Given the description of an element on the screen output the (x, y) to click on. 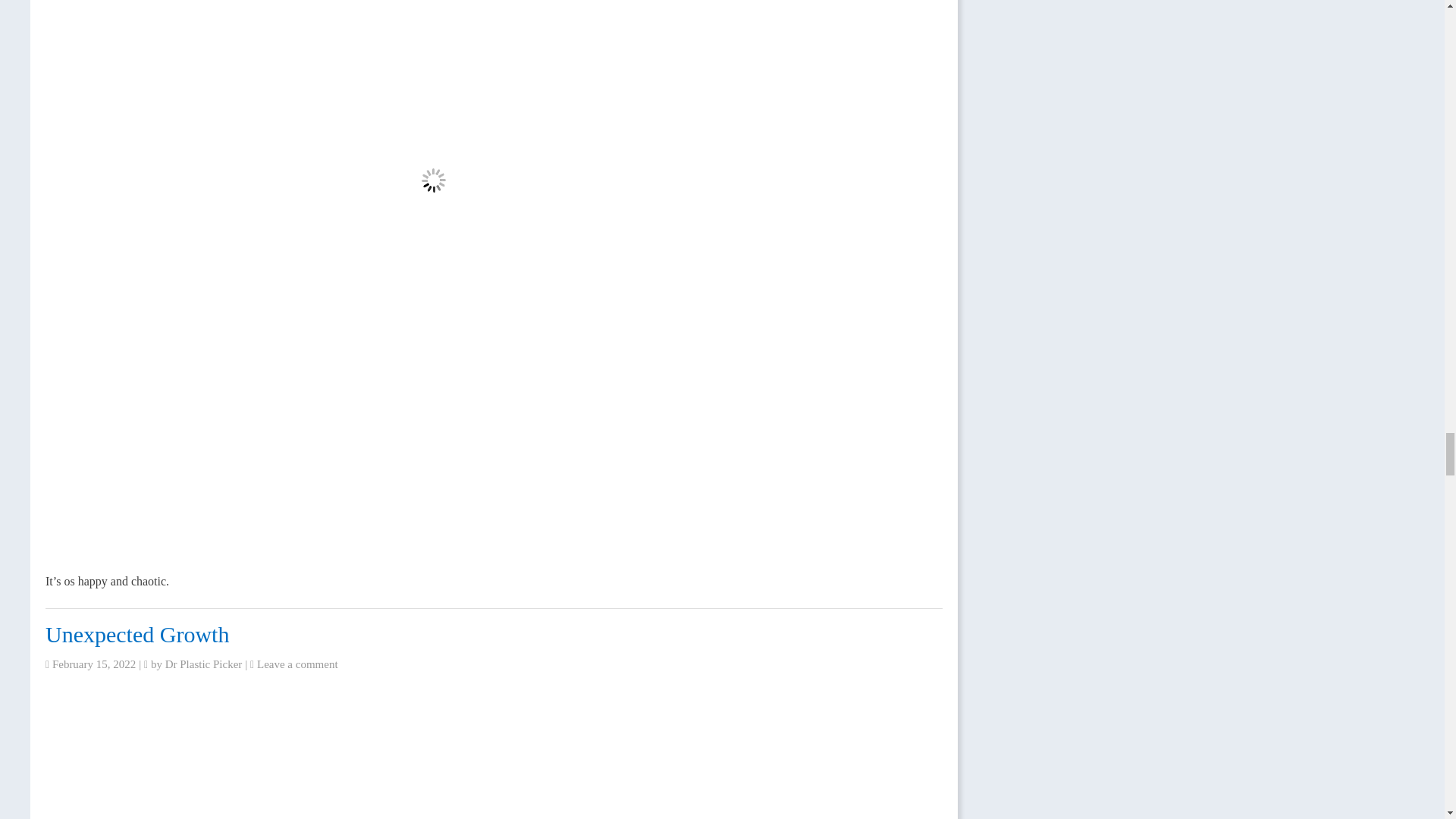
Unexpected Growth (136, 634)
Dr Plastic Picker (204, 664)
Leave a comment (297, 664)
